Given the description of an element on the screen output the (x, y) to click on. 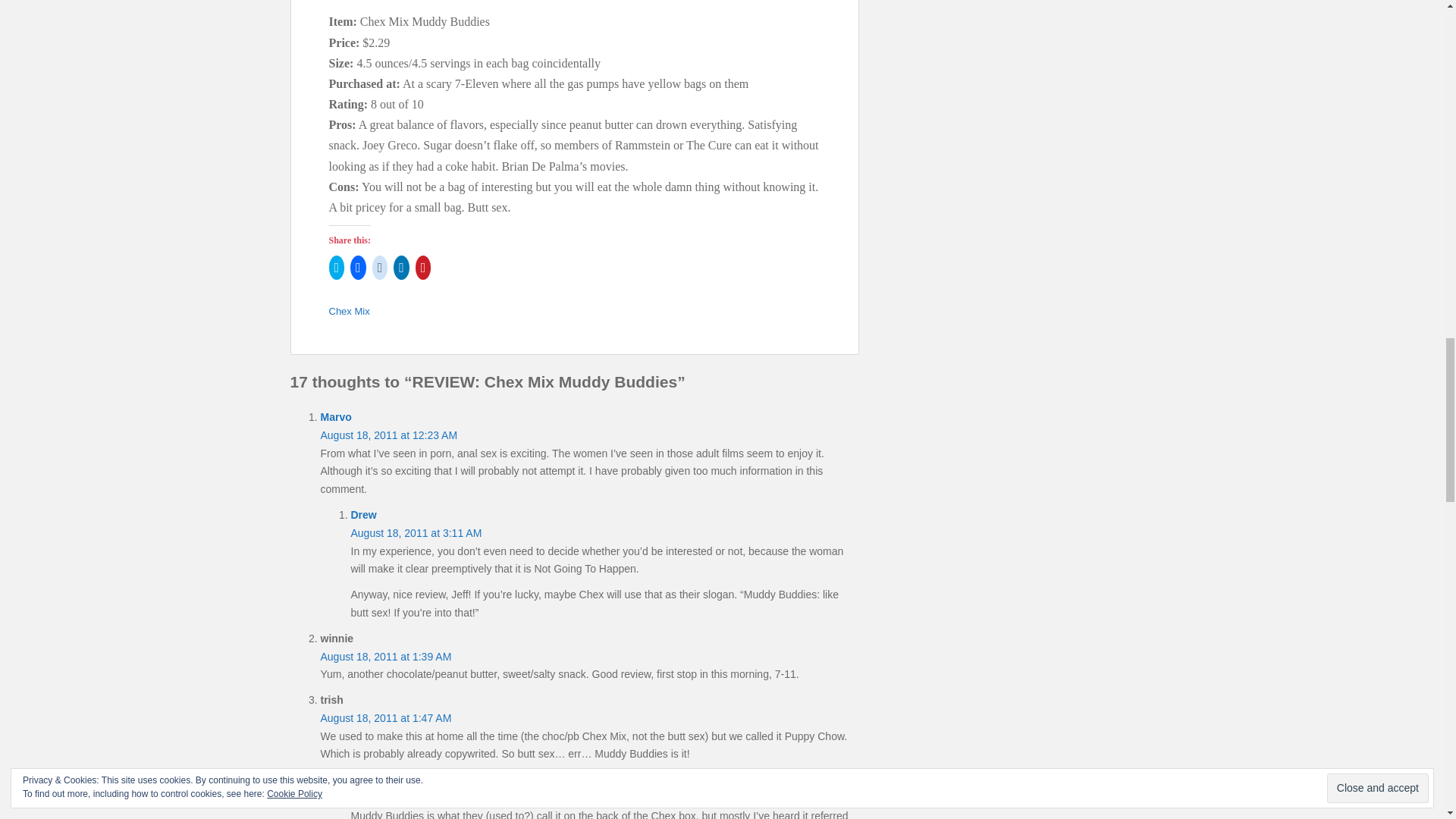
August 18, 2011 at 1:39 AM (385, 656)
August 18, 2011 at 3:11 AM (415, 532)
Marvo (335, 417)
Chex Mix (349, 310)
August 18, 2011 at 1:47 AM (385, 717)
August 19, 2011 at 8:17 PM (415, 797)
August 18, 2011 at 12:23 AM (388, 435)
Drew (362, 514)
